Given the description of an element on the screen output the (x, y) to click on. 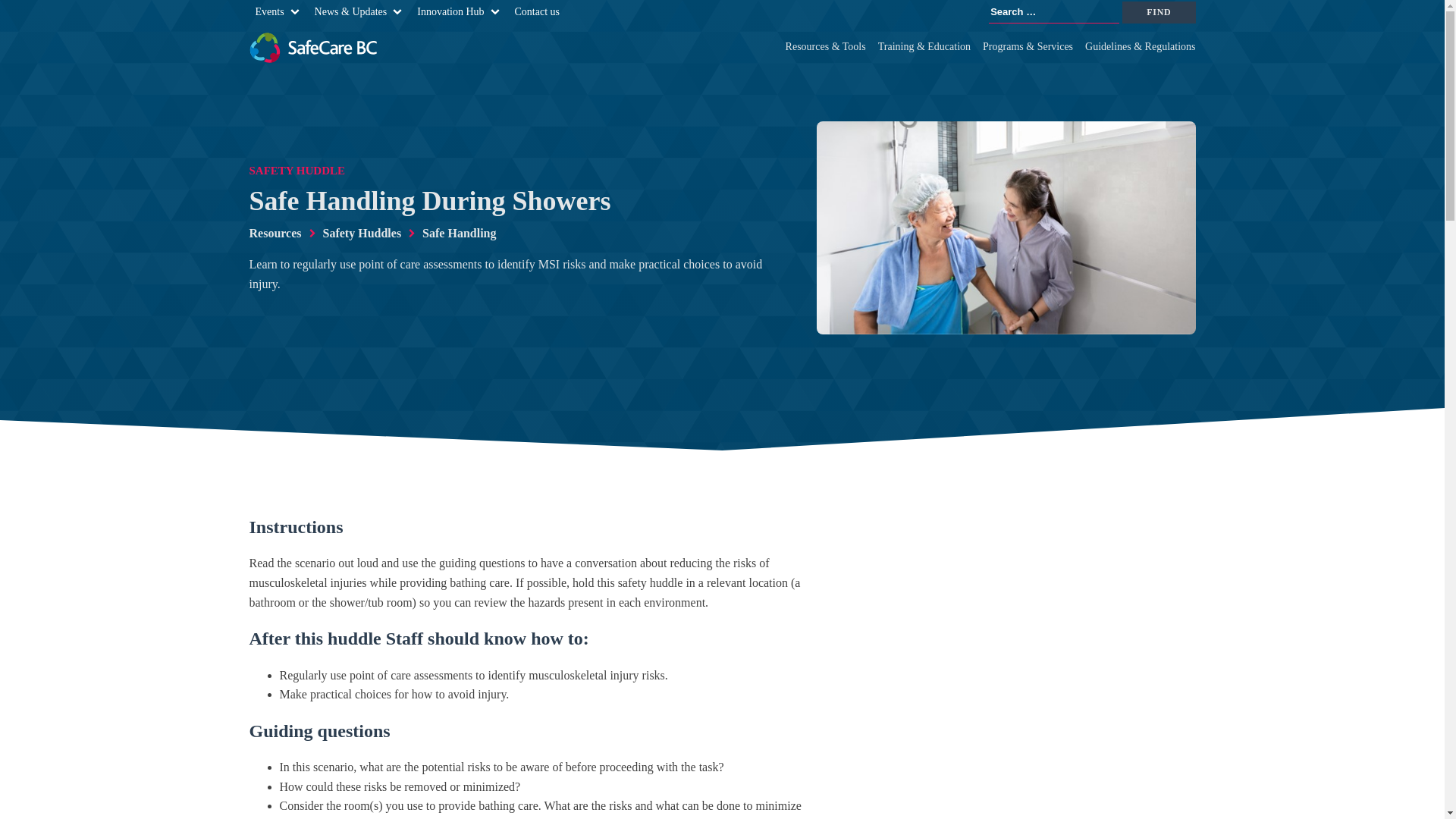
Search for: (1053, 12)
Contact us (537, 11)
Find (1158, 12)
Events (268, 11)
Find (1158, 12)
Innovation Hub (449, 11)
Find (1158, 12)
